Given the description of an element on the screen output the (x, y) to click on. 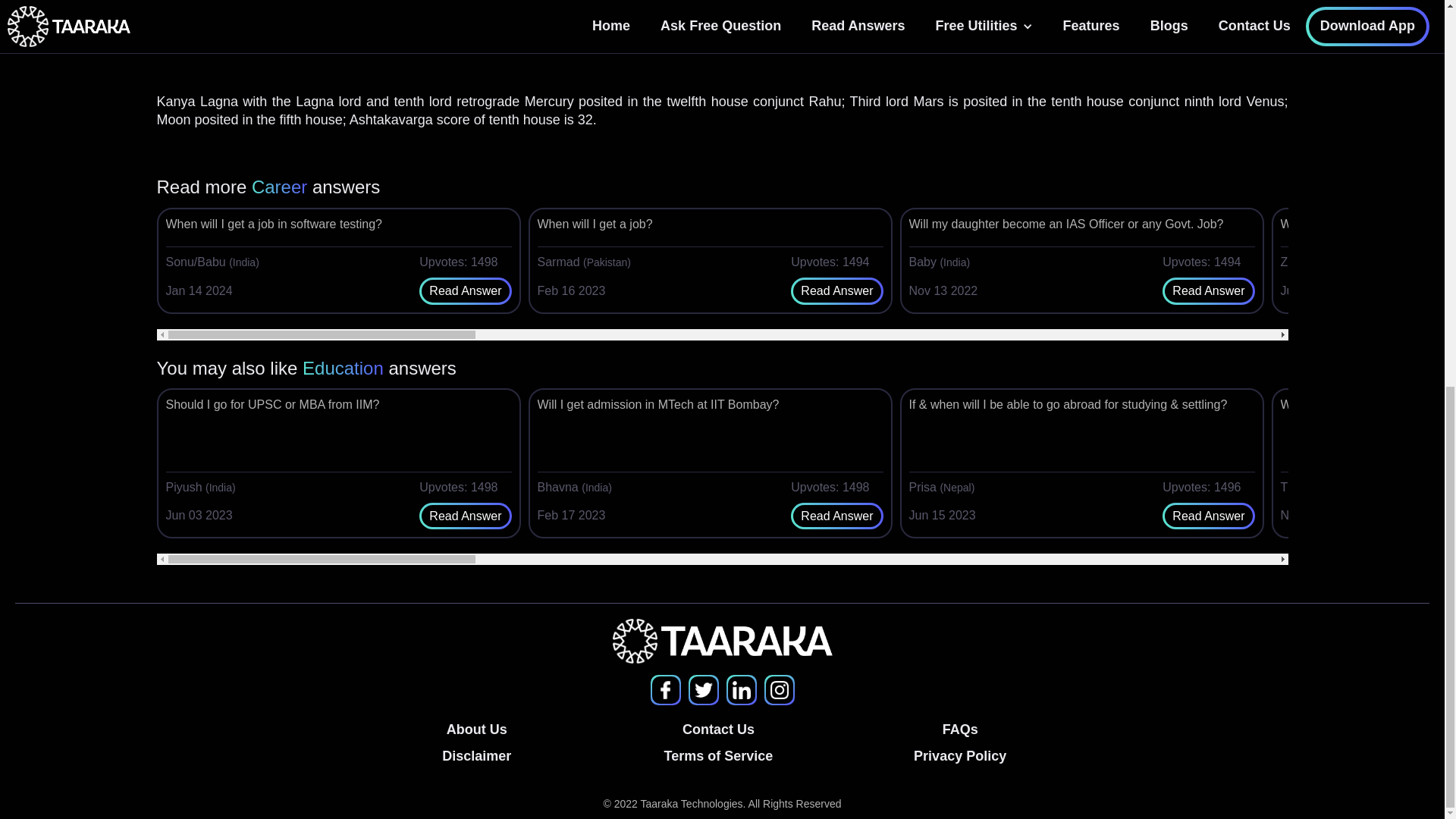
Read Answer (836, 516)
Read Answer (1208, 291)
Read Answer (465, 516)
Read Answer (465, 291)
Read Answer (1208, 516)
Read Answer (836, 291)
